Given the description of an element on the screen output the (x, y) to click on. 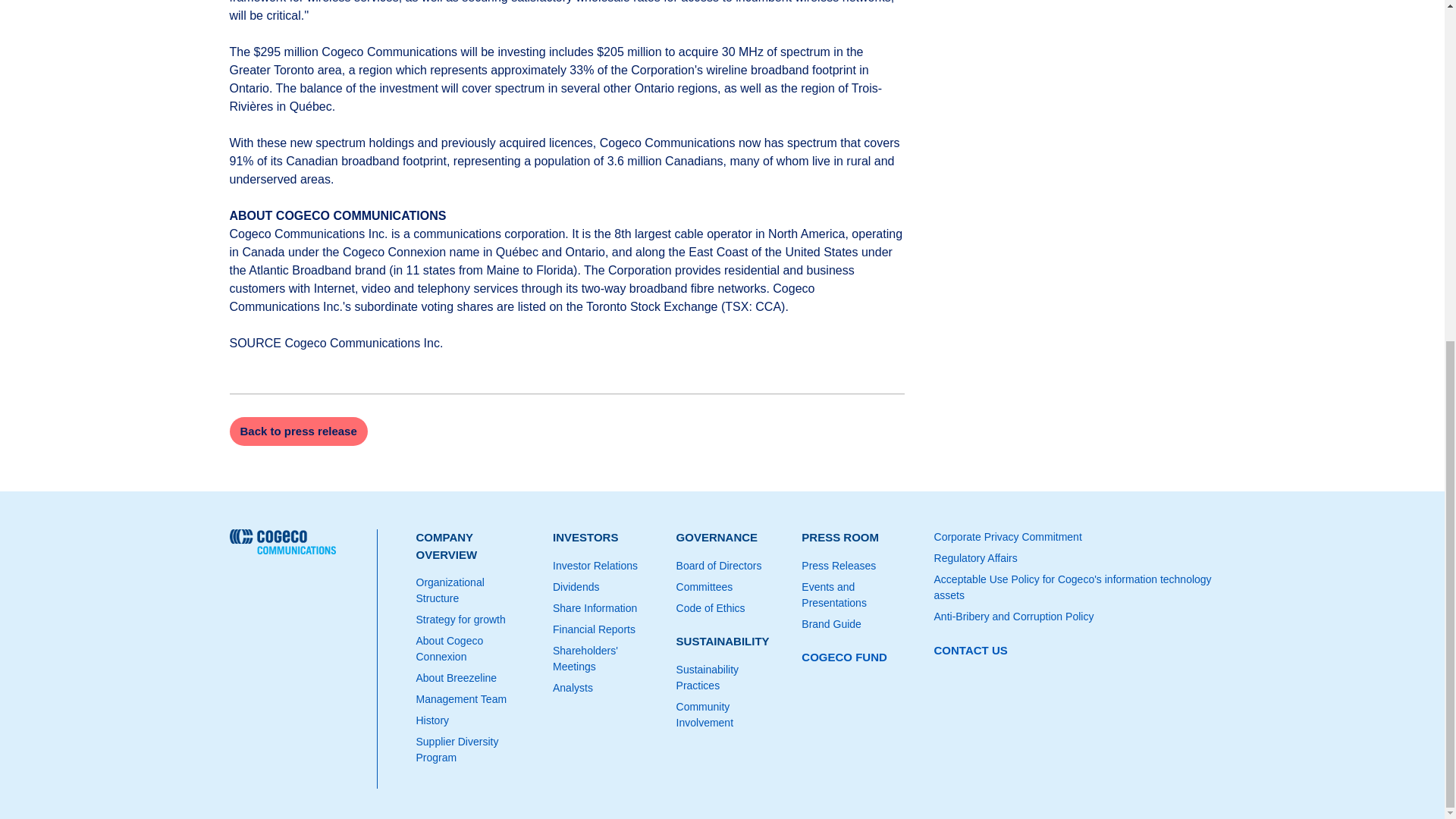
About Cogeco Connexion (471, 649)
Back to press release (297, 431)
Organizational Structure (471, 590)
Strategy for growth (471, 619)
About Breezeline (471, 678)
